Given the description of an element on the screen output the (x, y) to click on. 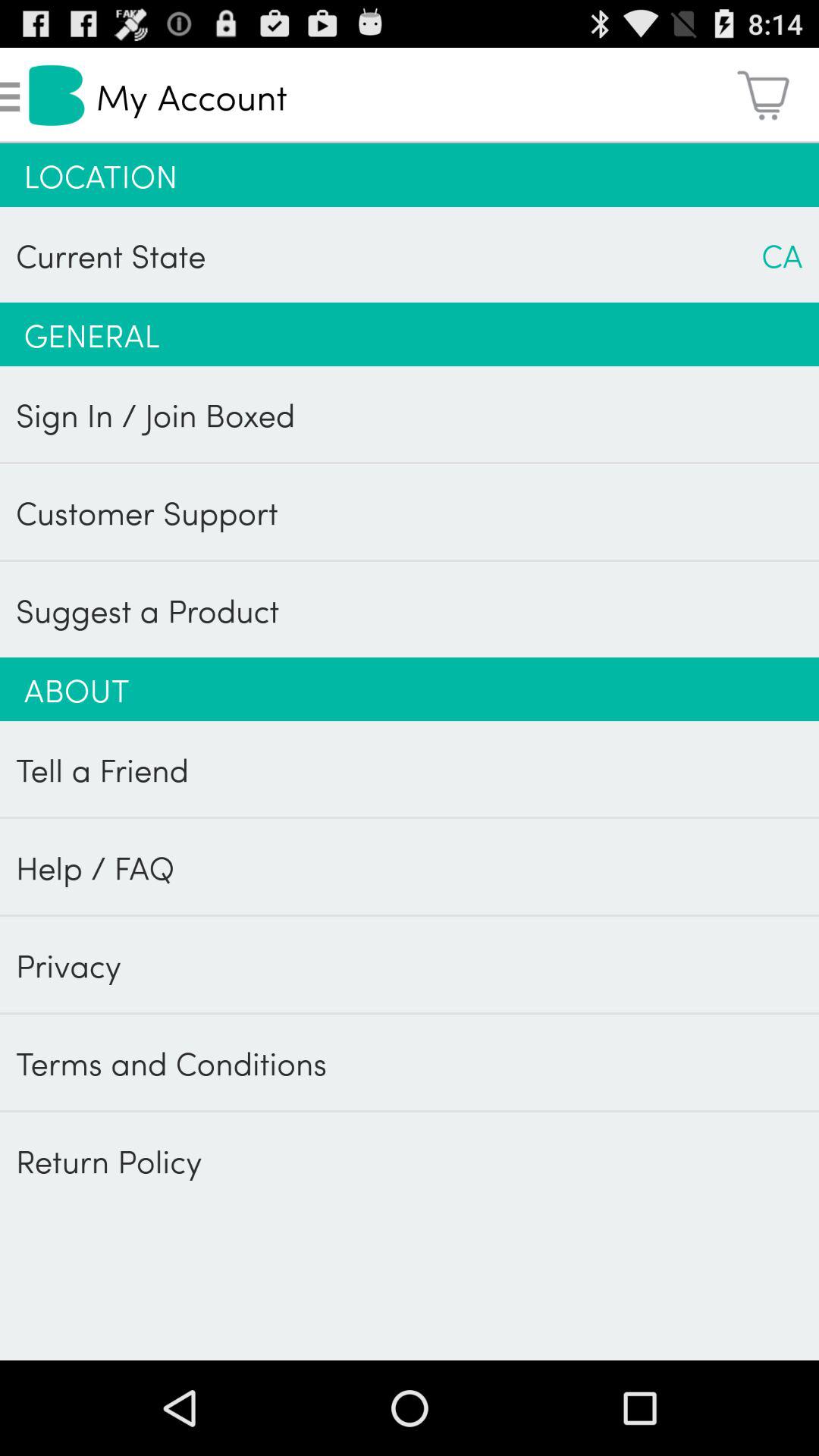
press icon to the right of my account app (763, 95)
